Given the description of an element on the screen output the (x, y) to click on. 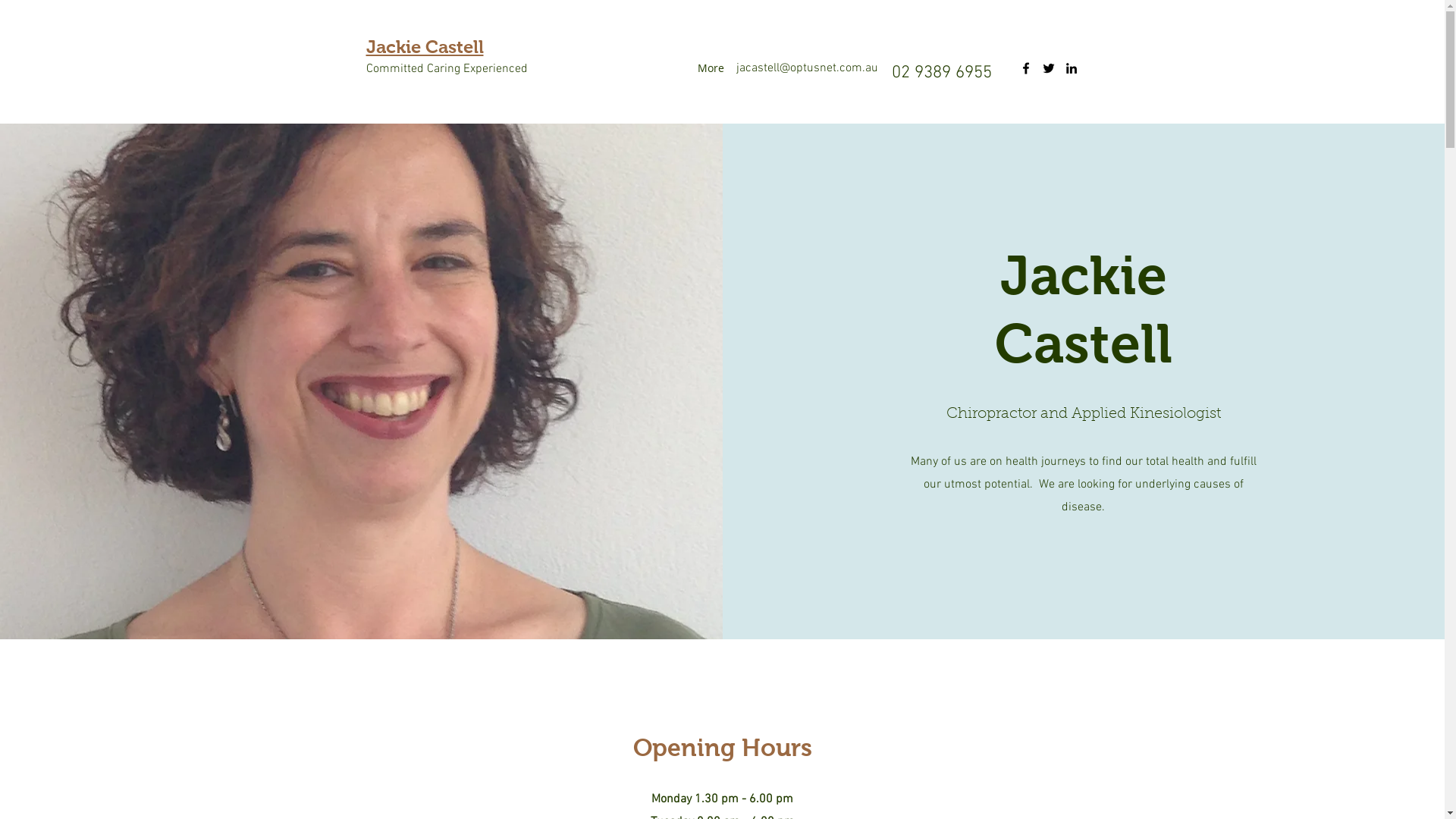
Jackie Castell Element type: text (424, 46)
jacastell@optusnet.com.au Element type: text (806, 67)
